Given the description of an element on the screen output the (x, y) to click on. 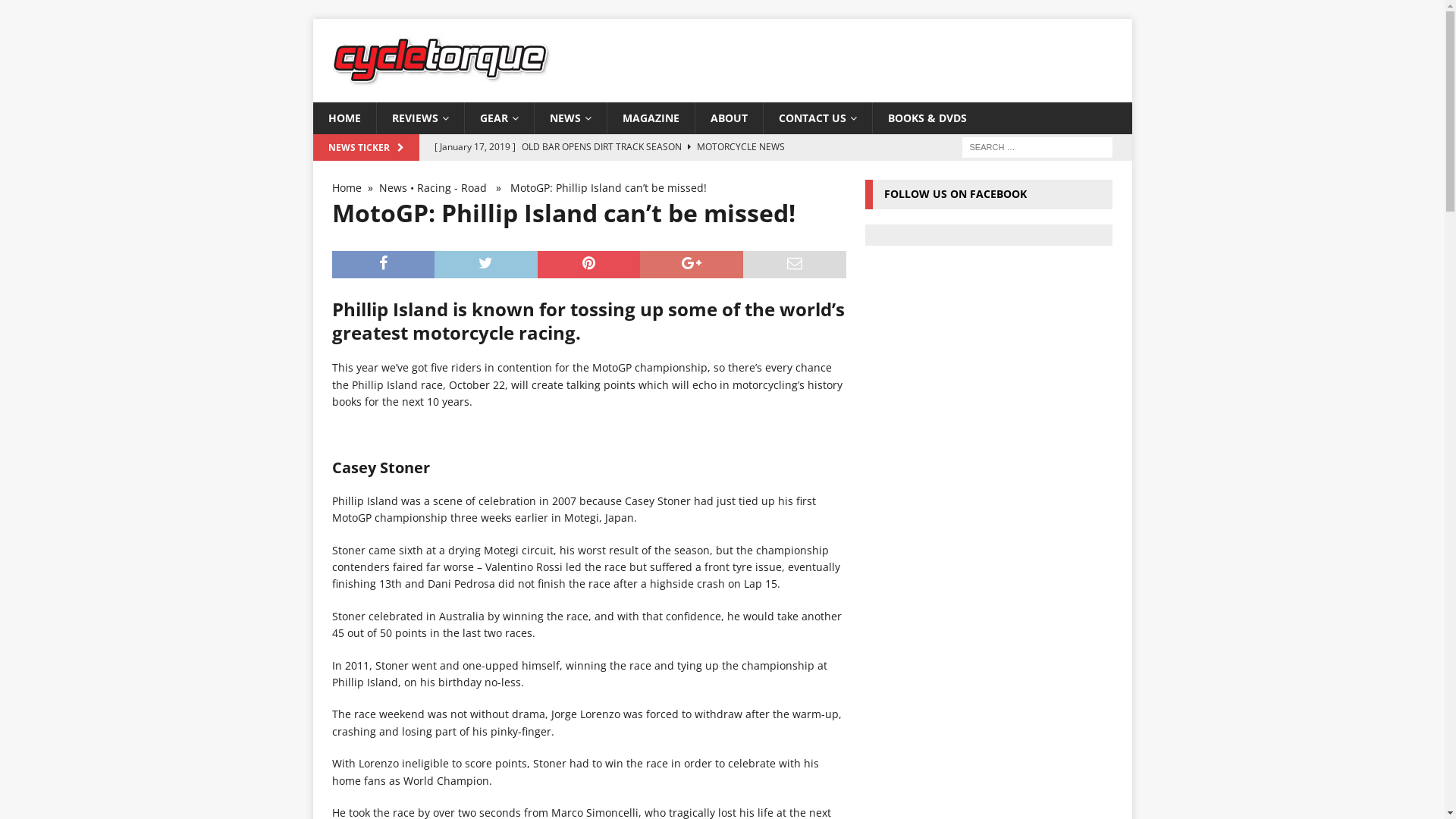
Search Element type: text (56, 11)
News Element type: text (393, 187)
BOOKS & DVDS Element type: text (927, 118)
Racing - Road Element type: text (451, 187)
ABOUT Element type: text (728, 118)
Advertisement Element type: hover (992, 370)
Home Element type: text (346, 187)
REVIEWS Element type: text (420, 118)
CONTACT US Element type: text (817, 118)
NEWS Element type: text (569, 118)
10 things we love about the new Suzuki GSX-S1000 Element type: hover (634, 185)
HOME Element type: text (343, 118)
MAGAZINE Element type: text (650, 118)
GEAR Element type: text (498, 118)
